Given the description of an element on the screen output the (x, y) to click on. 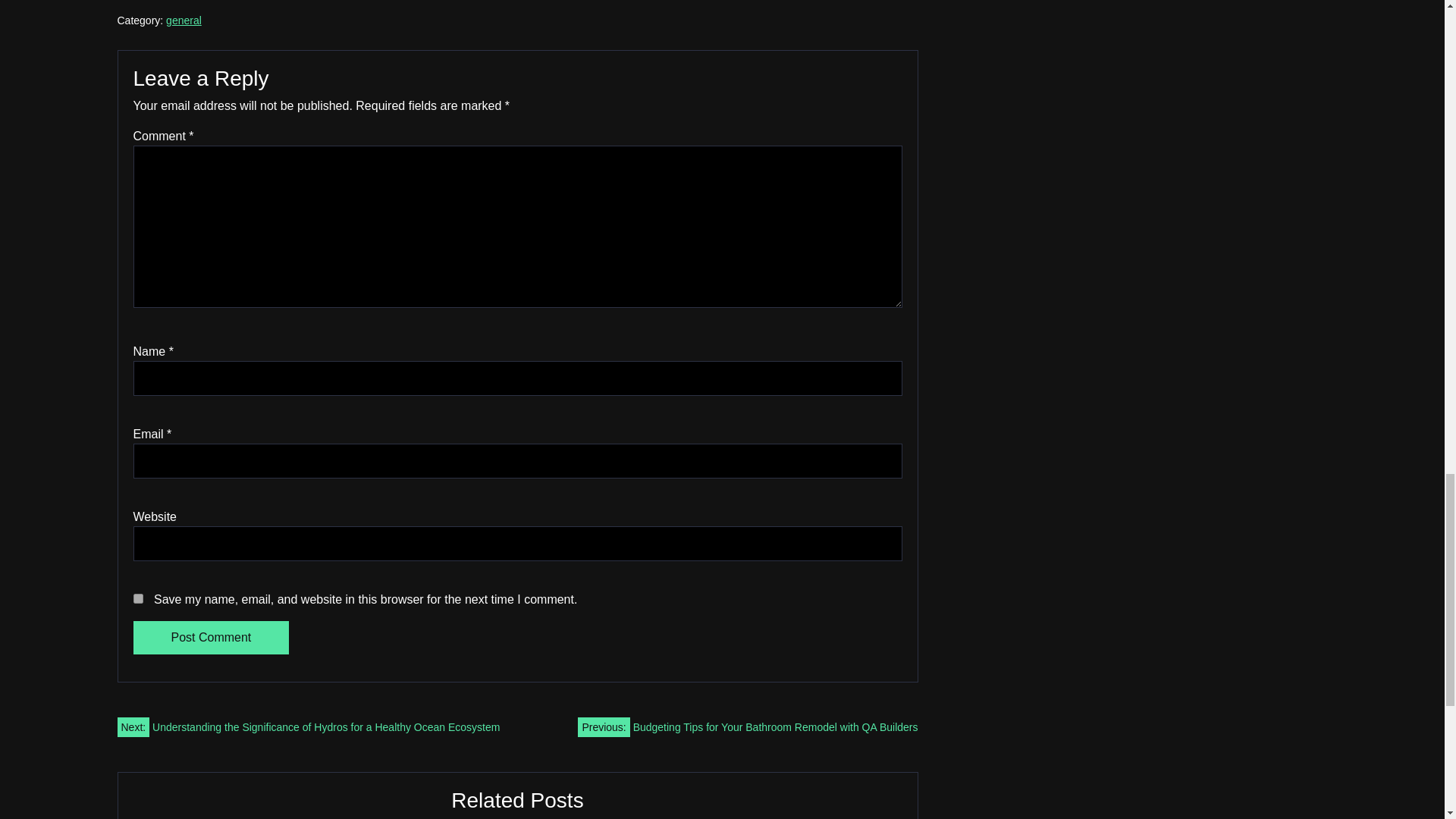
yes (137, 598)
general (183, 20)
Post Comment (211, 637)
Post Comment (211, 637)
